Given the description of an element on the screen output the (x, y) to click on. 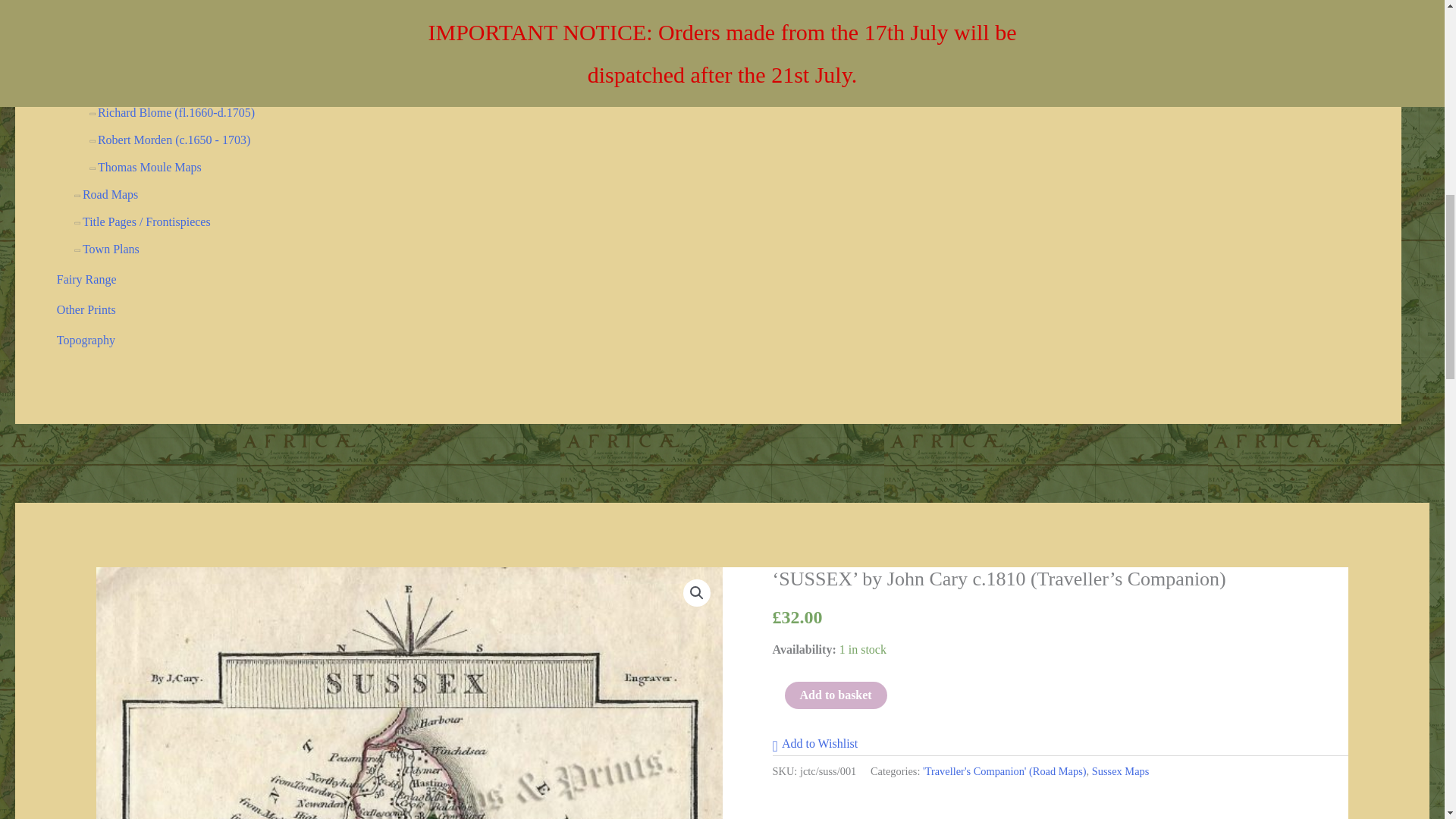
Michael Drayton's Poly-Olbion (173, 84)
John Tallis Maps (138, 57)
Thomas Moule Maps (149, 166)
Road Maps (110, 194)
